Given the description of an element on the screen output the (x, y) to click on. 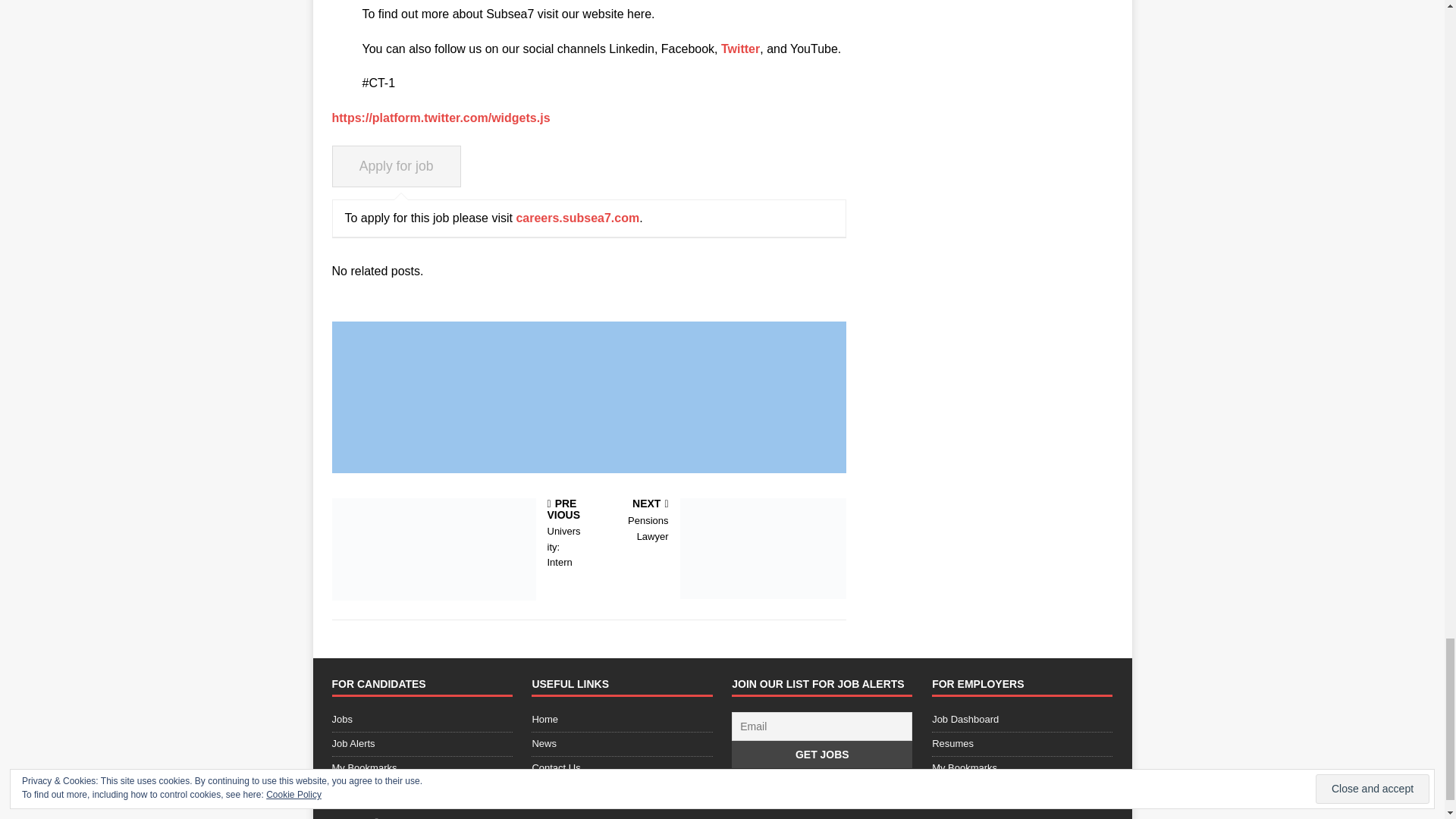
careers.subsea7.com (577, 217)
Twitter (457, 533)
Apply for job (720, 521)
Get Jobs (740, 48)
